Given the description of an element on the screen output the (x, y) to click on. 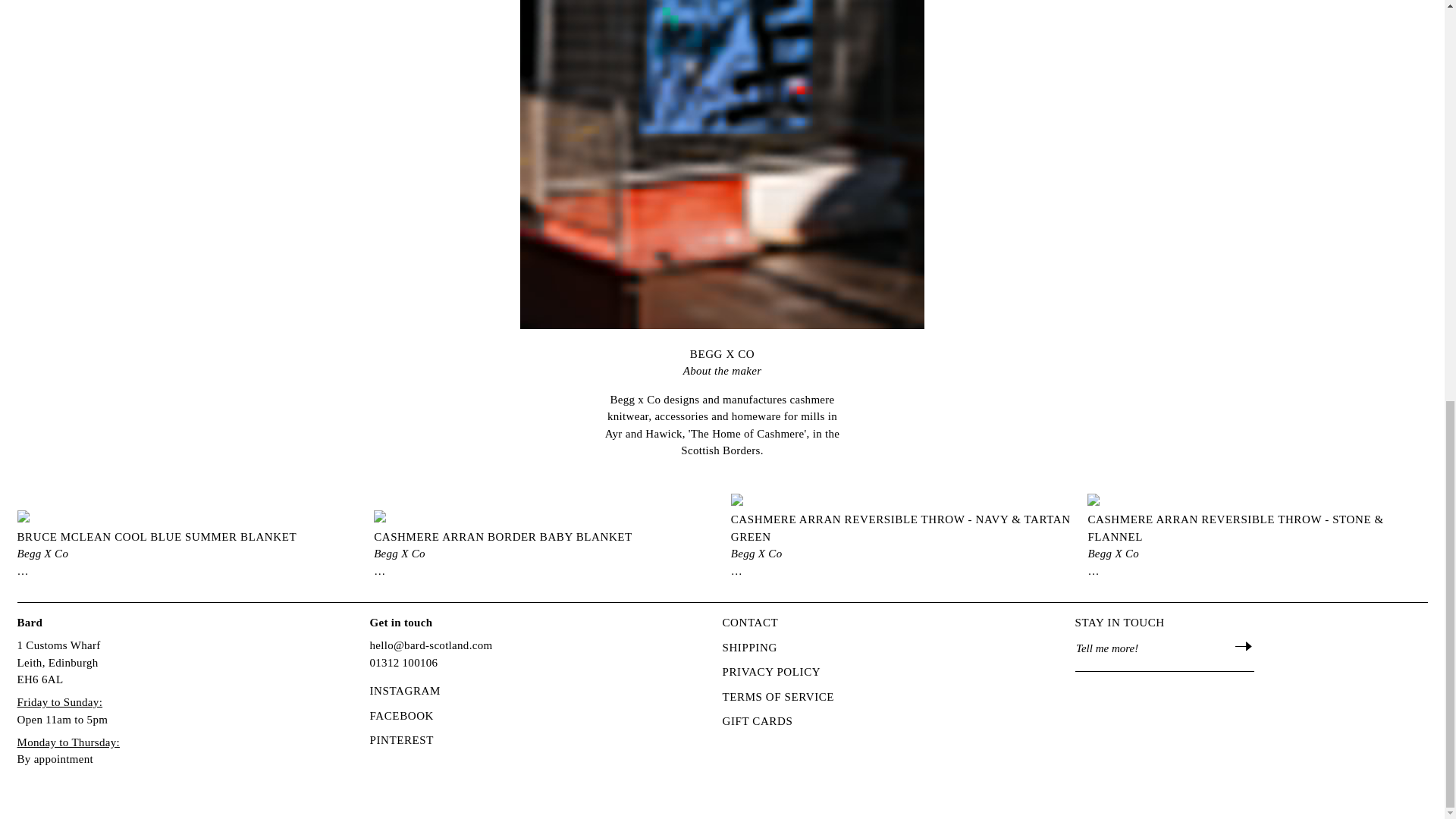
TERMS OF SERVICE (778, 696)
BEGG X CO (721, 361)
PINTEREST (401, 740)
CONTACT (749, 622)
SHIPPING (749, 647)
FACEBOOK (401, 715)
INSTAGRAM (405, 691)
PRIVACY POLICY (771, 671)
01312 100106 (403, 662)
GIFT CARDS (757, 721)
